Given the description of an element on the screen output the (x, y) to click on. 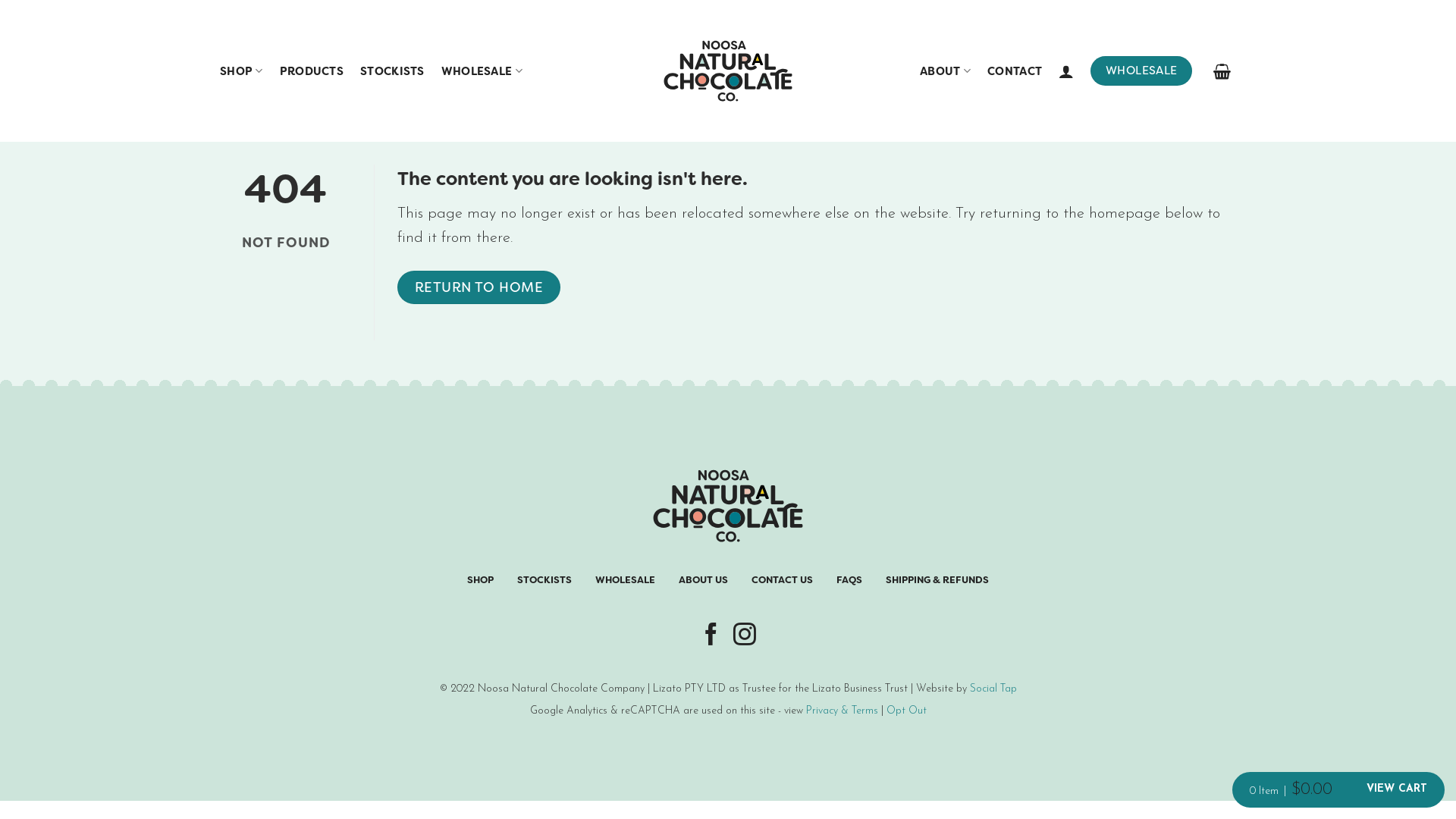
STOCKISTS Element type: text (544, 579)
SHOP Element type: text (480, 579)
Noosa Natural Chocolate Company Element type: hover (727, 70)
WHOLESALE Element type: text (625, 579)
Skip to content Element type: text (0, 0)
Follow on Facebook Element type: hover (710, 635)
Follow on Instagram Element type: hover (744, 635)
Social Tap Element type: text (992, 688)
CONTACT Element type: text (1014, 70)
Opt Out Element type: text (905, 710)
FAQS Element type: text (849, 579)
VIEW CART Element type: text (1396, 789)
ABOUT Element type: text (944, 70)
STOCKISTS Element type: text (392, 70)
SHOP Element type: text (241, 70)
RETURN TO HOME Element type: text (478, 287)
Privacy & Terms Element type: text (841, 710)
WHOLESALE Element type: text (481, 70)
SHIPPING & REFUNDS Element type: text (936, 579)
ABOUT US Element type: text (703, 579)
CONTACT US Element type: text (781, 579)
Cart Element type: hover (1222, 70)
PRODUCTS Element type: text (311, 70)
WHOLESALE Element type: text (1141, 70)
